Given the description of an element on the screen output the (x, y) to click on. 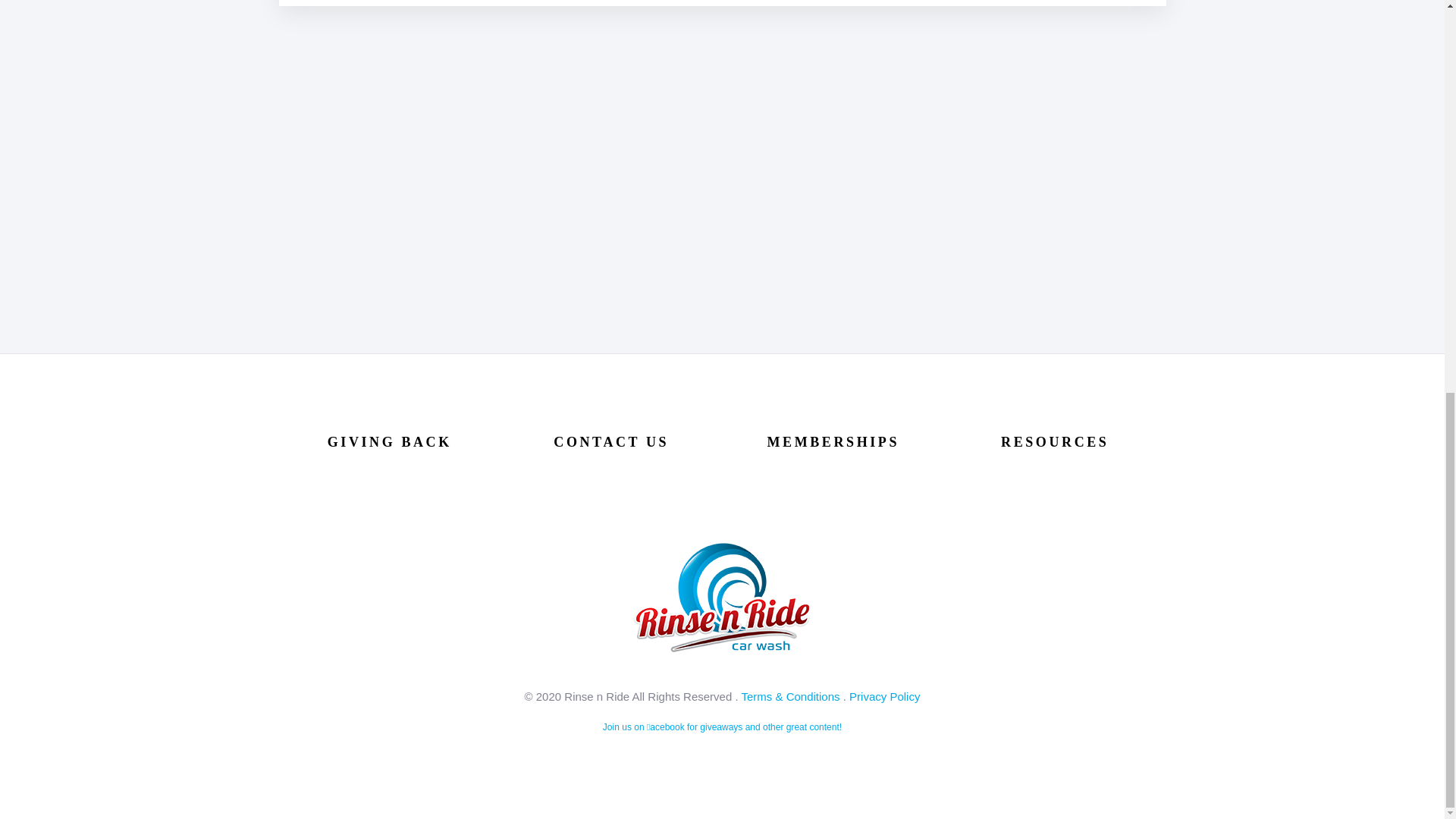
MEMBERSHIPS (833, 441)
Privacy Policy (884, 696)
RESOURCES (1054, 441)
GIVING BACK (389, 441)
CONTACT US (610, 441)
Join us on acebook for giveaways and other great content! (721, 726)
